Given the description of an element on the screen output the (x, y) to click on. 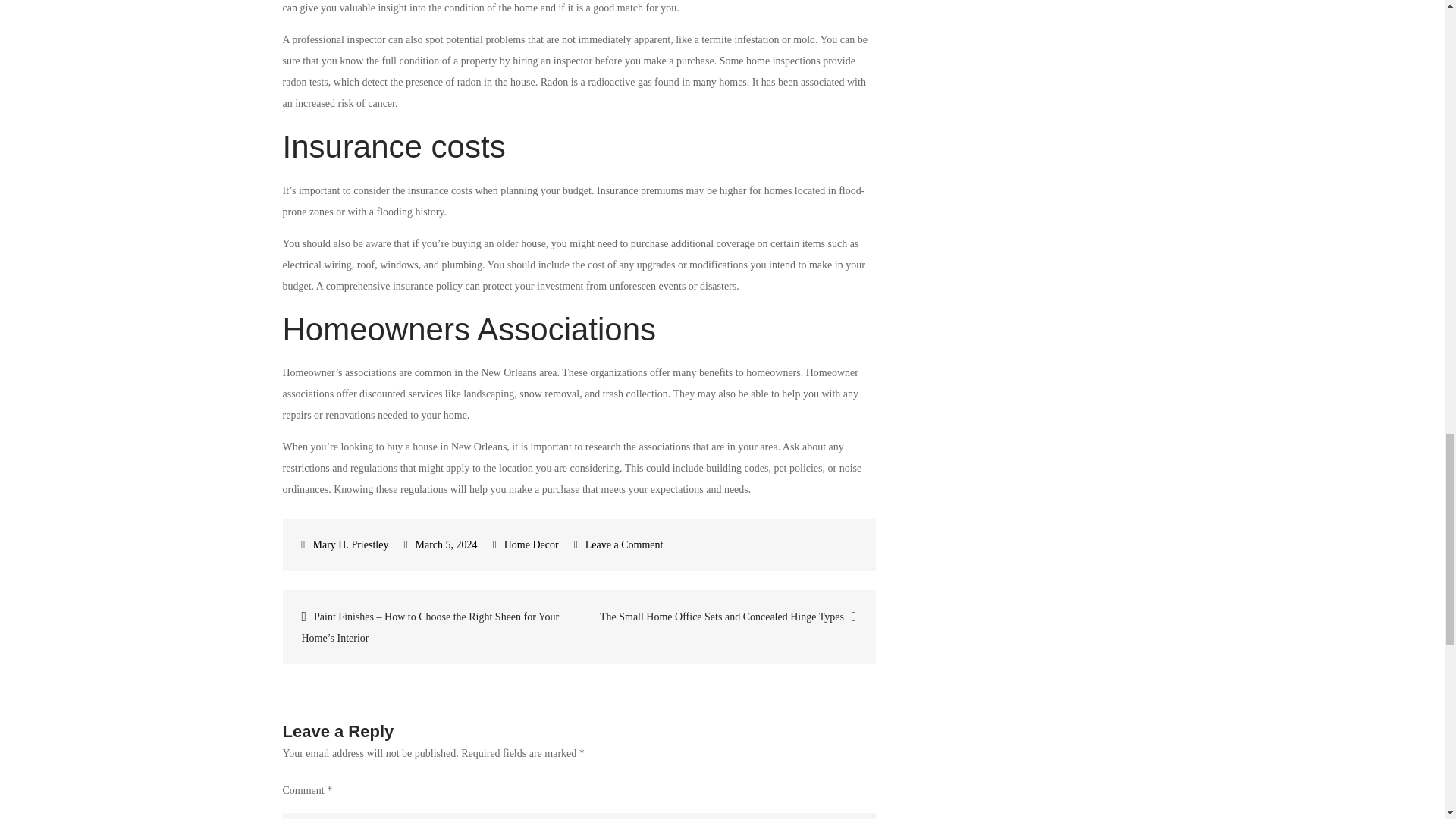
Mary H. Priestley (344, 544)
The Small Home Office Sets and Concealed Hinge Types (726, 616)
March 5, 2024 (440, 544)
Home Decor (531, 544)
